Given the description of an element on the screen output the (x, y) to click on. 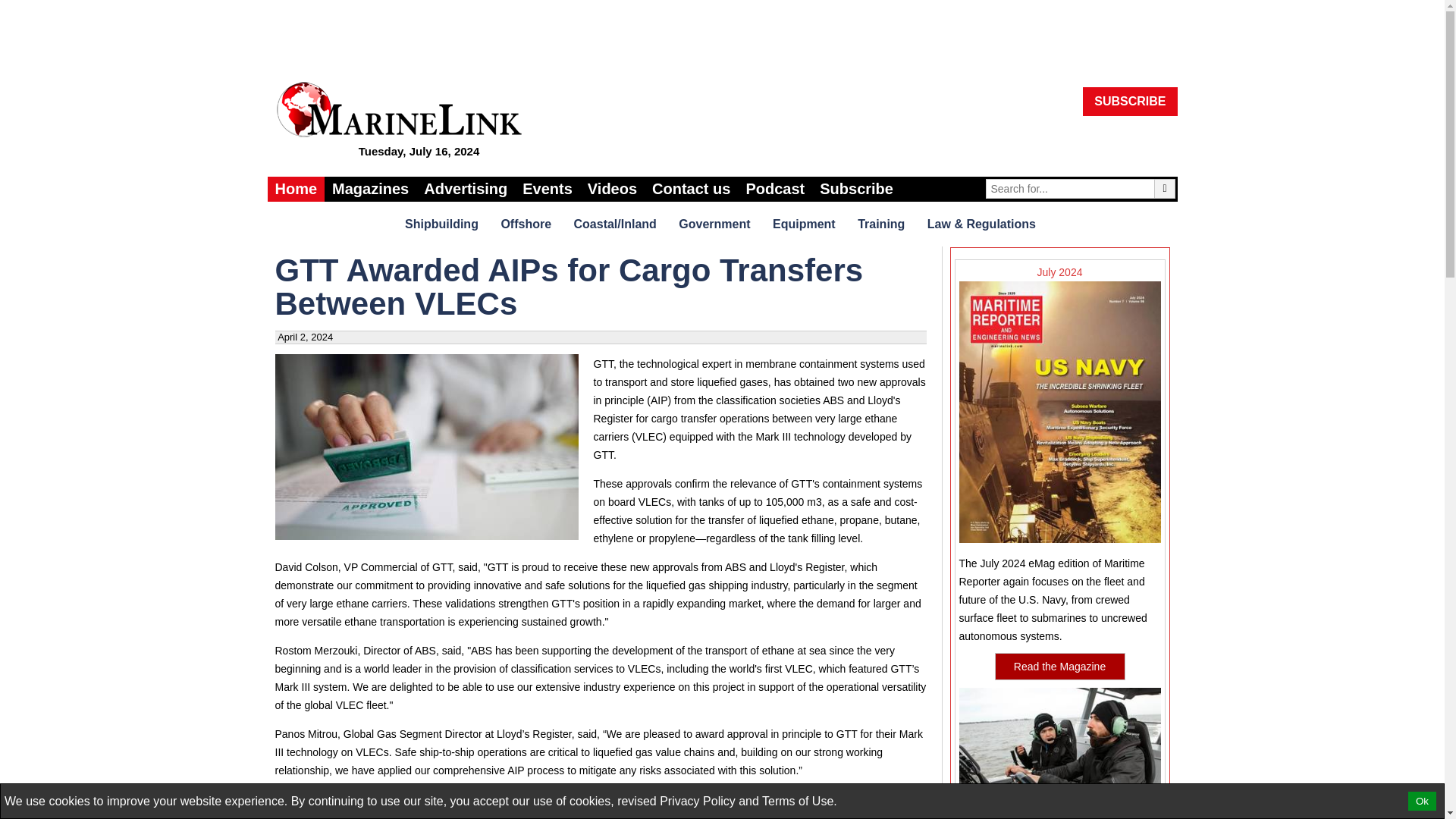
SUBSCRIBE (1129, 101)
July 2024 (1059, 408)
Podcast (775, 188)
Advertising (465, 188)
Magazines (370, 188)
 Maritime Reporter Magazine and Marine News Magazine (370, 188)
Maritime Events (547, 188)
Equipment (806, 223)
 Maritime Advertising (465, 188)
Training (882, 223)
Offshore (527, 223)
 Contacts (691, 188)
Subscribe (856, 188)
Home (295, 188)
Events (547, 188)
